Given the description of an element on the screen output the (x, y) to click on. 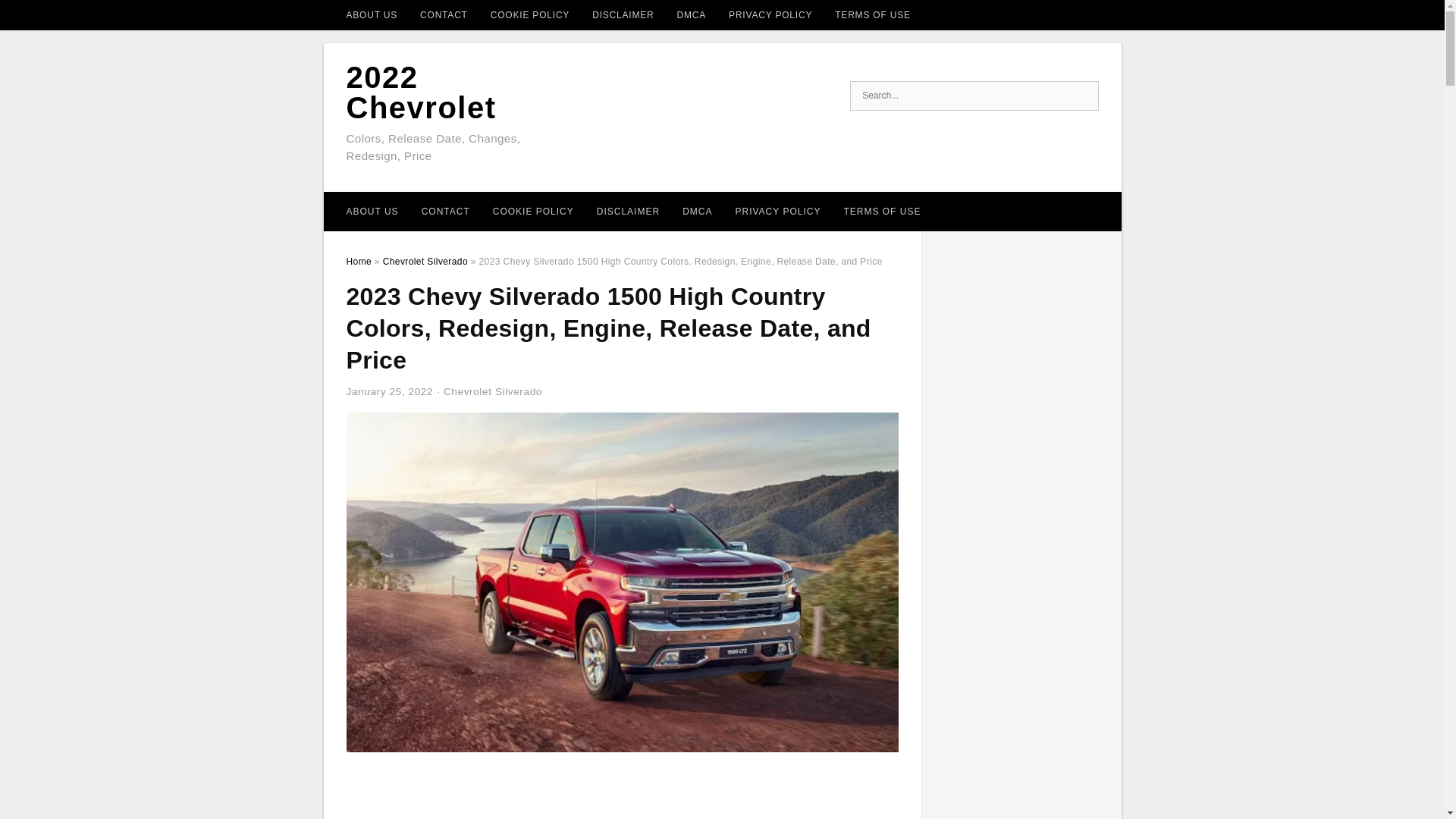
DMCA (697, 210)
CONTACT (444, 15)
Chevrolet Silverado (492, 391)
DMCA (691, 15)
PRIVACY POLICY (777, 210)
Search (1082, 96)
DISCLAIMER (622, 15)
Chevrolet Silverado (424, 261)
PRIVACY POLICY (770, 15)
ABOUT US (371, 15)
COOKIE POLICY (533, 210)
DISCLAIMER (628, 210)
CONTACT (445, 210)
